Given the description of an element on the screen output the (x, y) to click on. 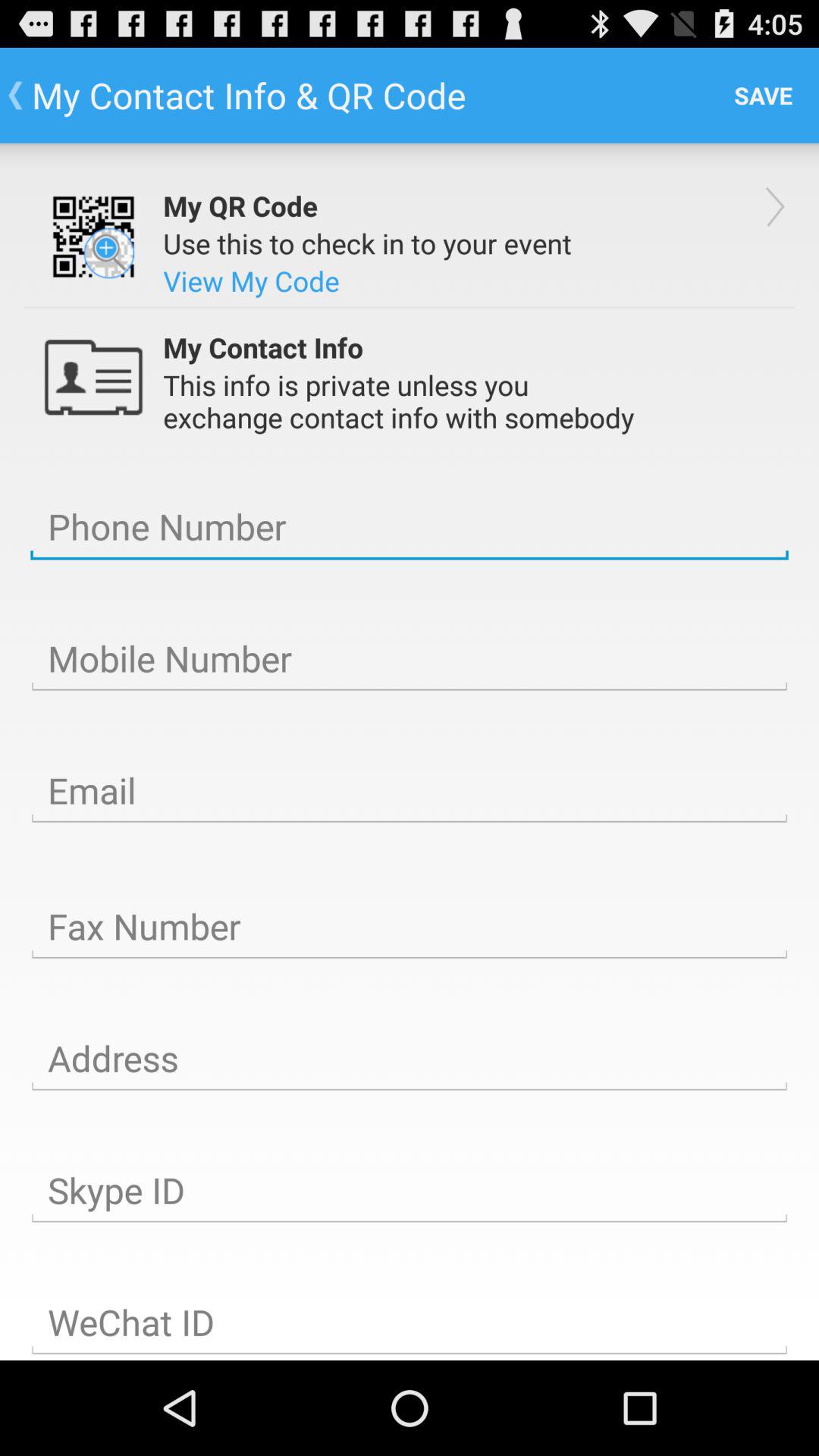
email address (409, 790)
